Given the description of an element on the screen output the (x, y) to click on. 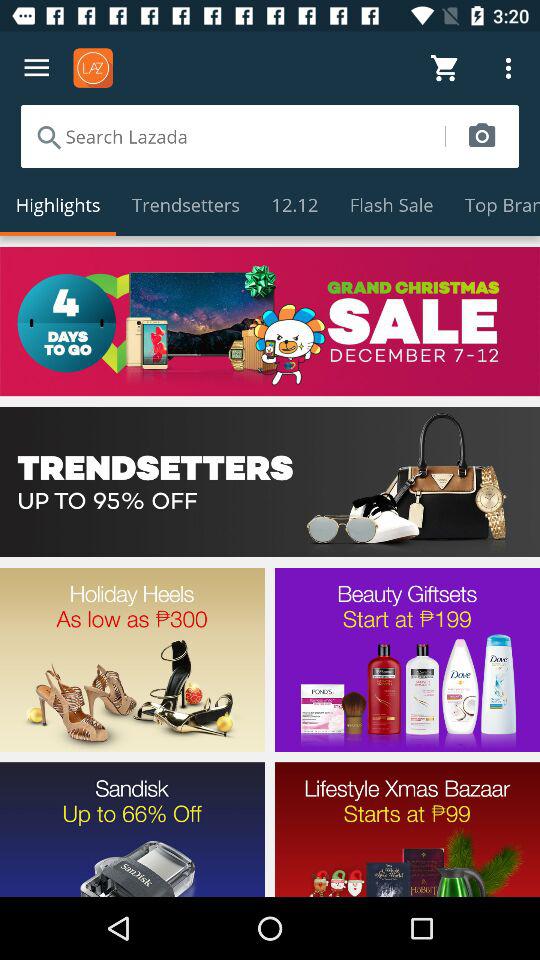
go to menu bar (36, 68)
